Given the description of an element on the screen output the (x, y) to click on. 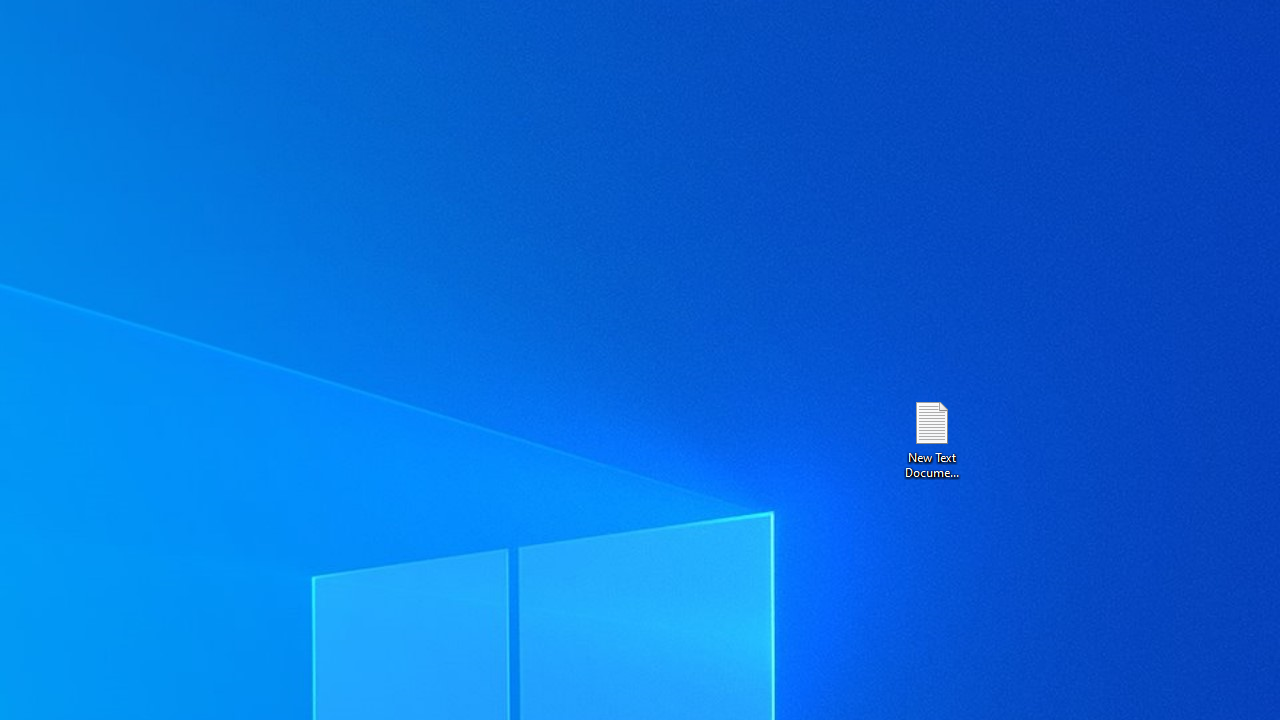
New Text Document (2) (931, 438)
